Given the description of an element on the screen output the (x, y) to click on. 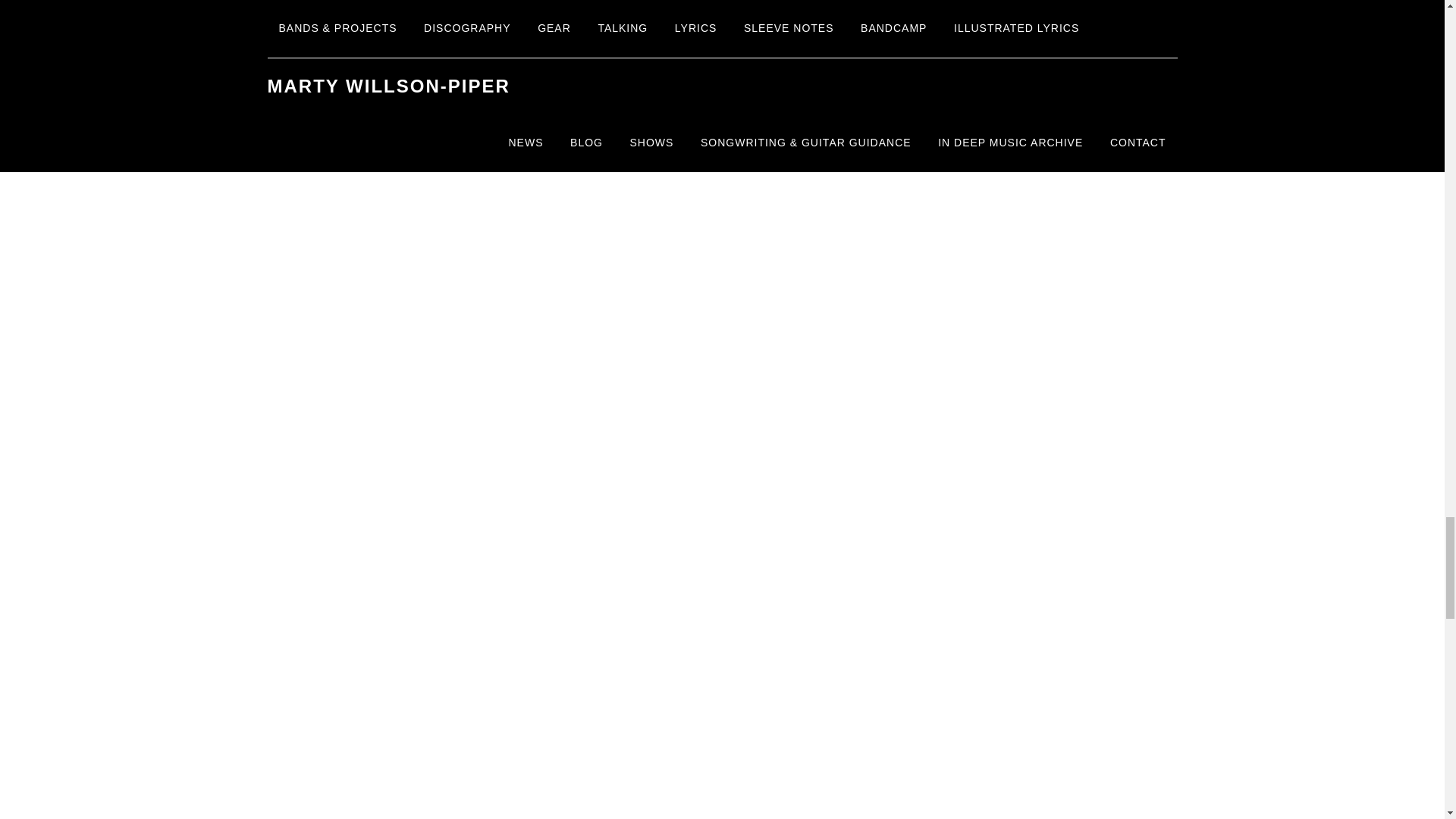
YouTube video player (532, 341)
YouTube video player (532, 108)
YouTube video player (532, 585)
YouTube video player (532, 765)
